Given the description of an element on the screen output the (x, y) to click on. 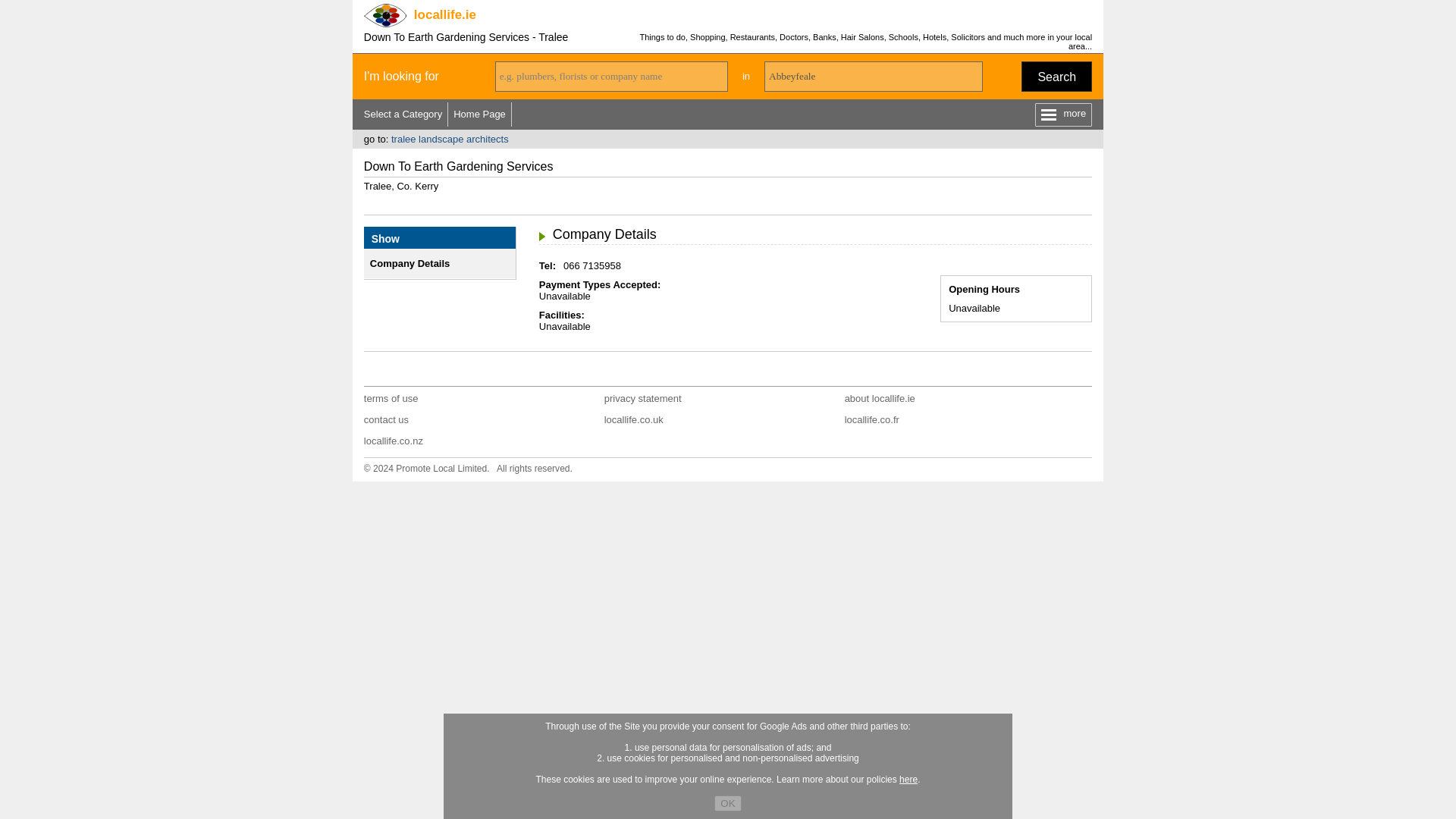
tralee landscape architects (449, 138)
contact us (386, 419)
locallife.co.fr (871, 419)
locallife.co.nz (393, 440)
Select a Category (403, 113)
Company Details (409, 263)
Home Page (478, 113)
locallife.co.uk (633, 419)
privacy statement (642, 398)
e.g. plumbers, florists or company name (611, 76)
terms of use (391, 398)
Abbeyfeale (873, 76)
about locallife.ie (879, 398)
Search (1057, 76)
